Given the description of an element on the screen output the (x, y) to click on. 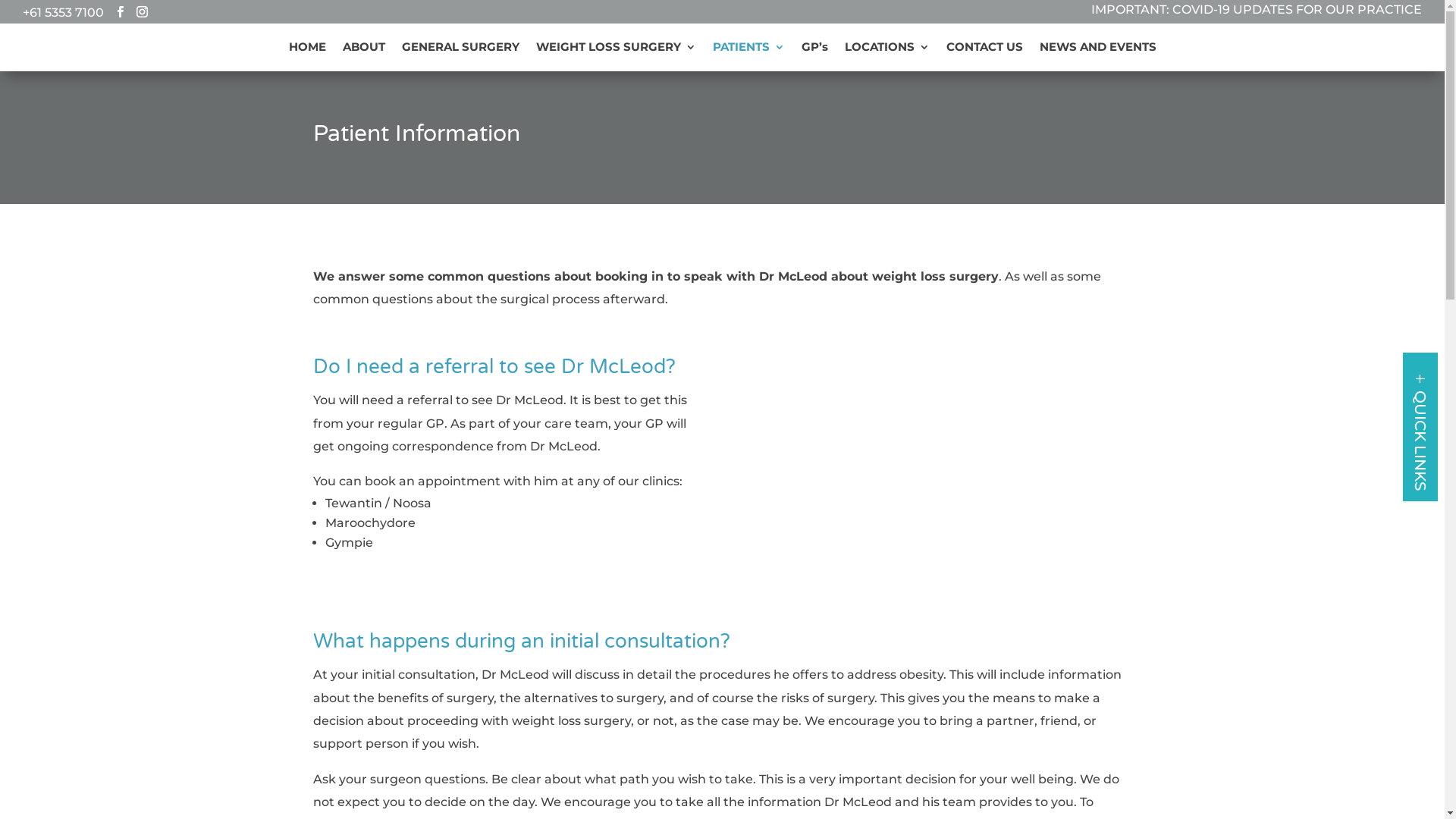
GENERAL SURGERY Element type: text (460, 50)
ABOUT Element type: text (363, 50)
PATIENTS Element type: text (748, 50)
LOCATIONS Element type: text (886, 50)
CONTACT US Element type: text (984, 50)
WEIGHT LOSS SURGERY Element type: text (615, 50)
+61 5353 7100 Element type: text (62, 12)
NEWS AND EVENTS Element type: text (1096, 50)
HOME Element type: text (306, 50)
